Given the description of an element on the screen output the (x, y) to click on. 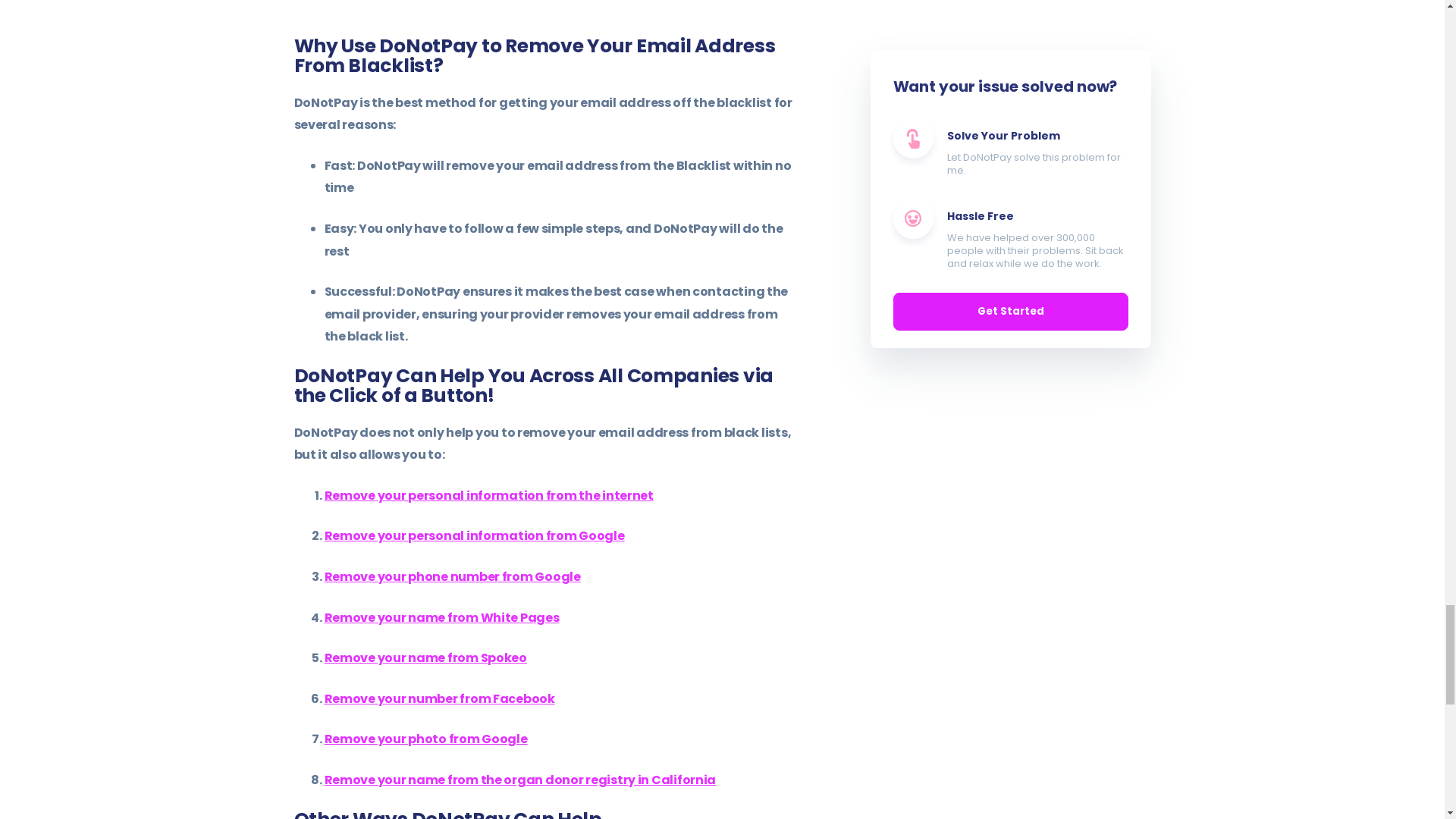
Remove your personal information from the internet (488, 495)
Remove your phone number from Google (452, 576)
Remove your name from White Pages (441, 617)
Remove your number from Facebook (439, 698)
Remove your name from Spokeo (425, 657)
Remove your personal information from Google (474, 535)
